Given the description of an element on the screen output the (x, y) to click on. 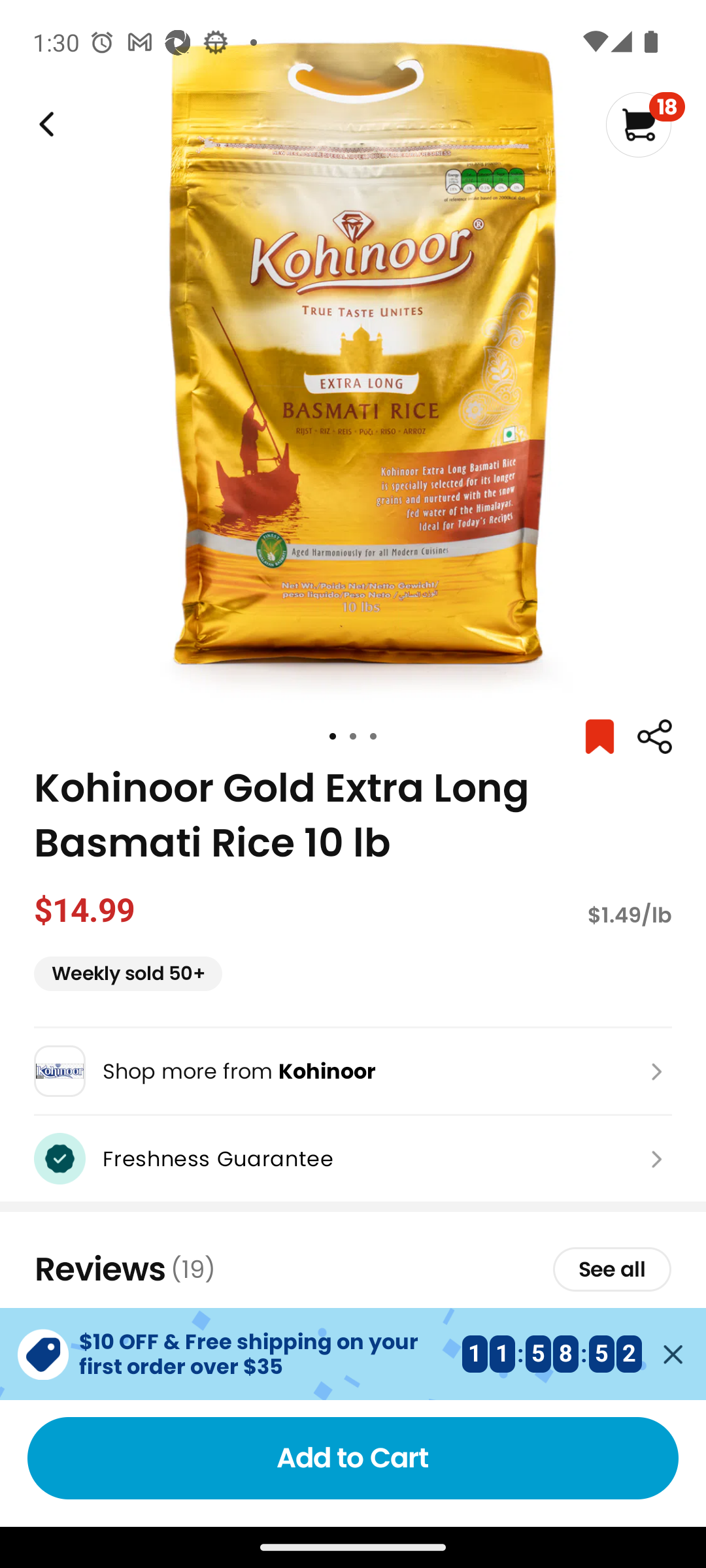
18 (644, 124)
Weee! (45, 124)
Weee! (653, 736)
Shop more from Kohinoor Weee! (352, 1070)
Freshness Guarantee (352, 1158)
Reviews (19) See all (353, 1269)
Add to Cart (352, 1458)
